Given the description of an element on the screen output the (x, y) to click on. 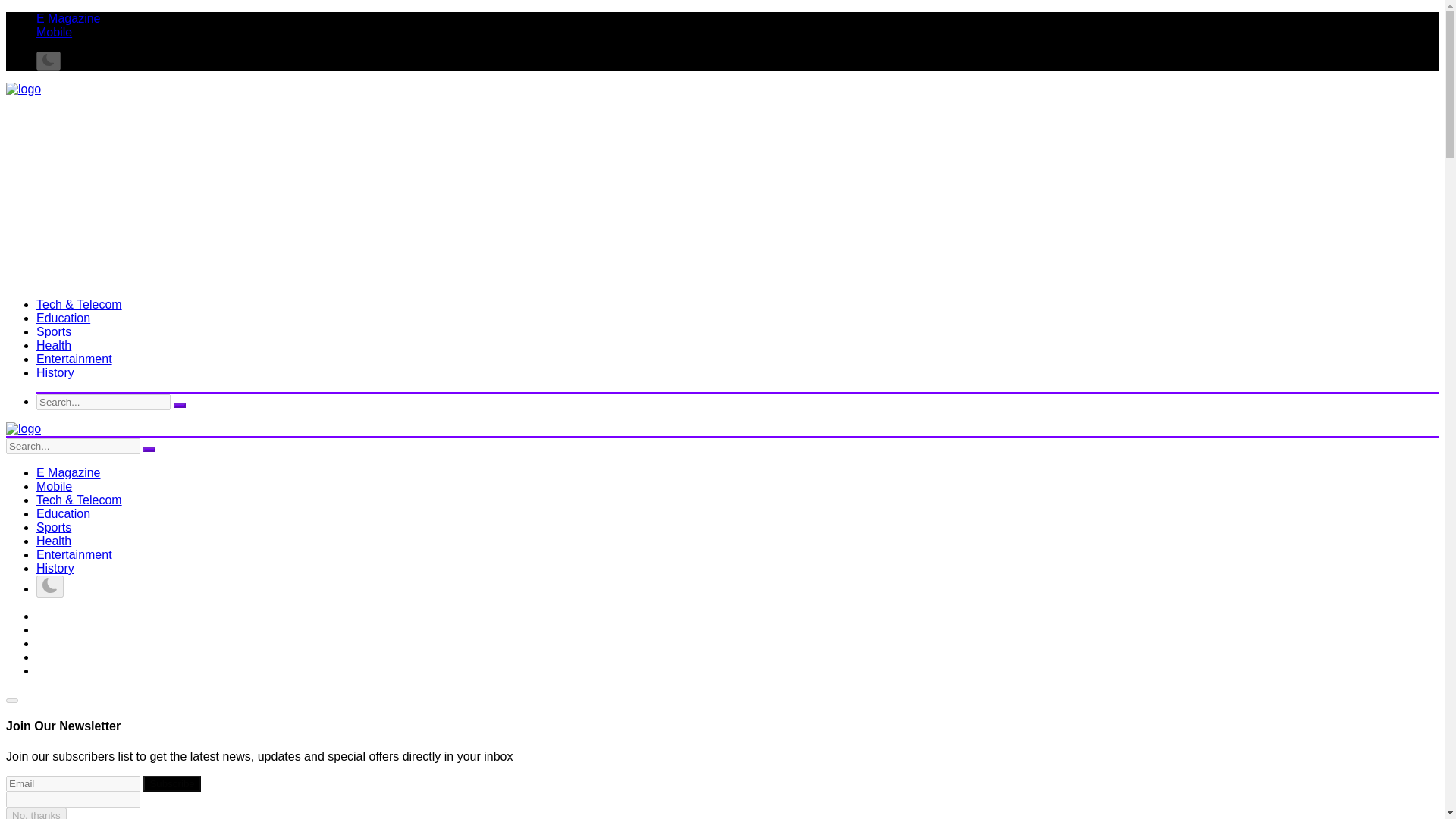
Mobile (53, 31)
No, thanks (35, 813)
Entertainment (74, 358)
History (55, 372)
Education (63, 318)
Health (53, 345)
Entertainment (74, 554)
Sports (53, 331)
E Magazine (68, 18)
Subscribe (171, 783)
History (55, 567)
Health (53, 540)
Sports (53, 526)
dark (48, 60)
Education (63, 513)
